Given the description of an element on the screen output the (x, y) to click on. 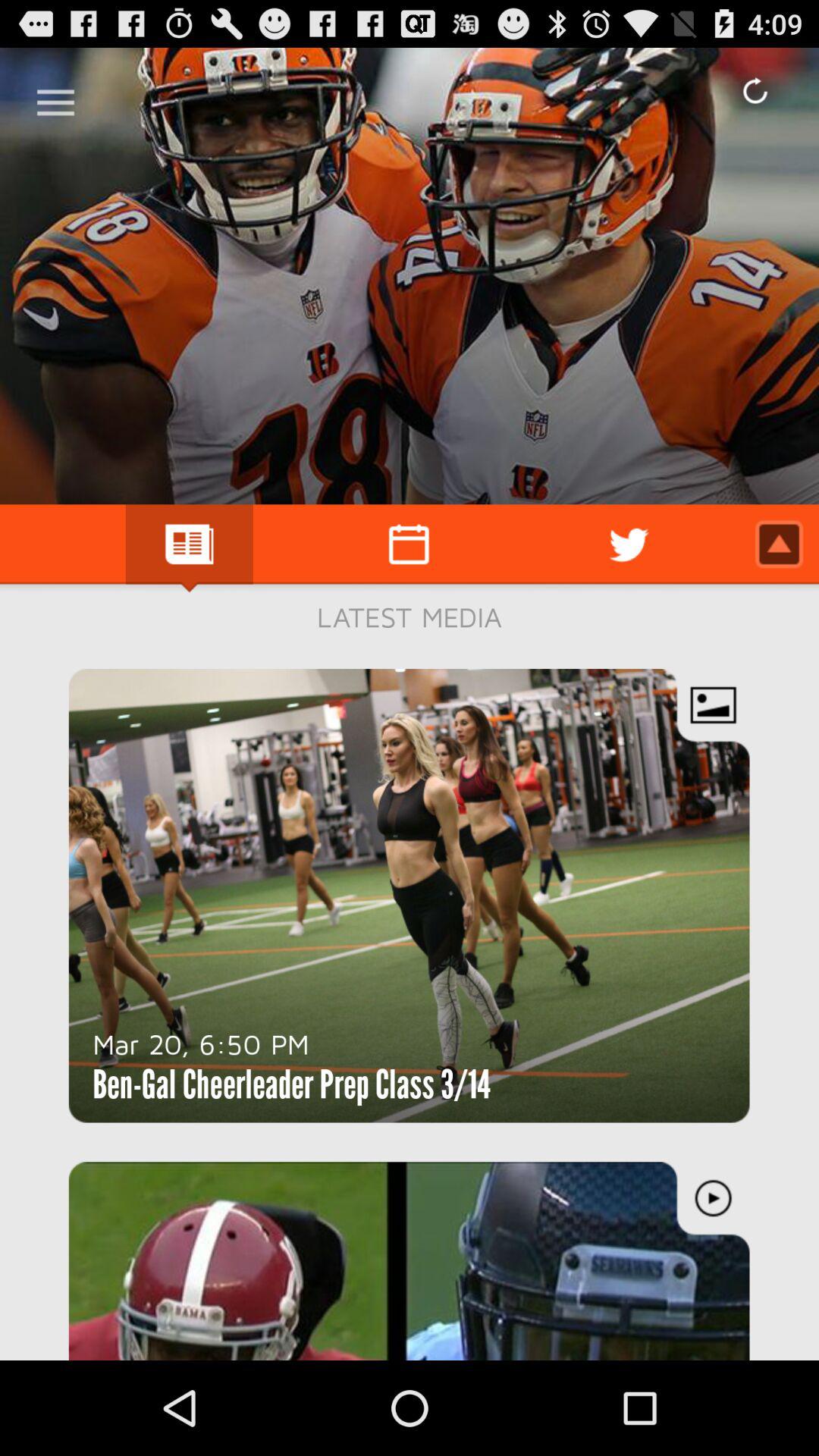
click icon at the top left corner (55, 97)
